Given the description of an element on the screen output the (x, y) to click on. 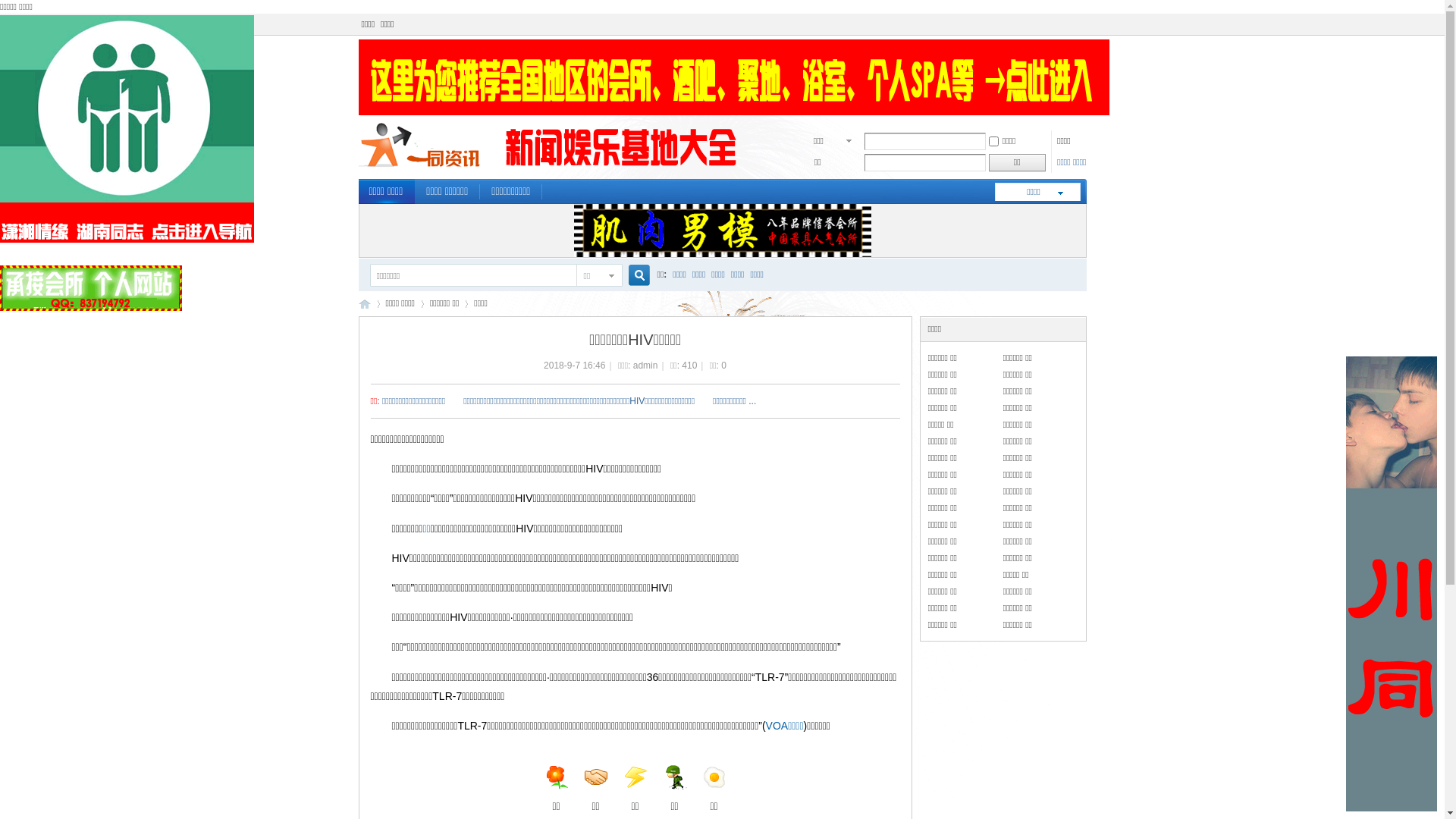
admin Element type: text (645, 365)
true Element type: text (632, 275)
